Given the description of an element on the screen output the (x, y) to click on. 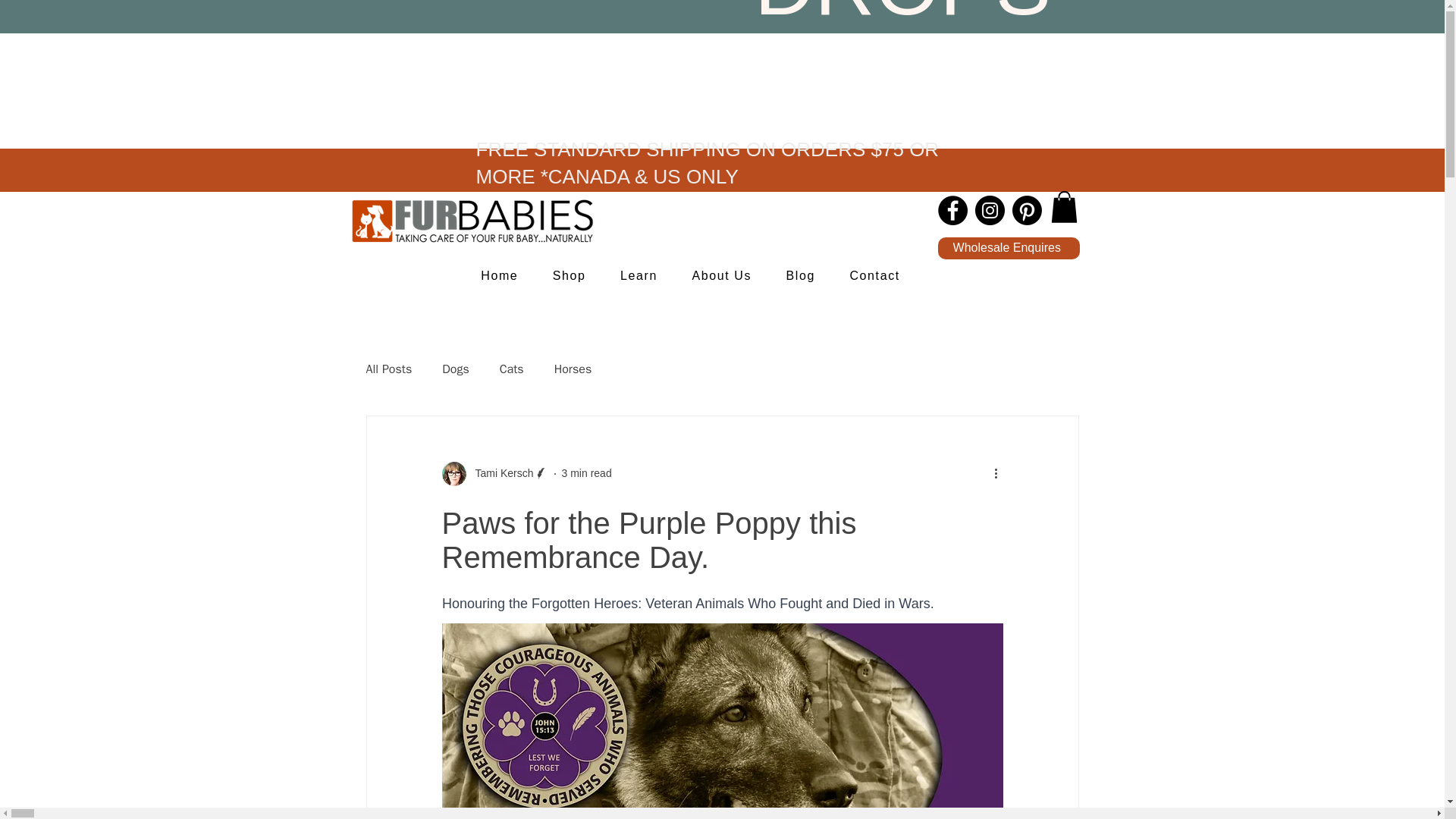
3 min read (586, 472)
Contact (874, 276)
Home (499, 276)
All Posts (388, 369)
Tami Kersch (498, 473)
About Us (721, 276)
Wholesale Enquires (1007, 248)
Blog (800, 276)
